Given the description of an element on the screen output the (x, y) to click on. 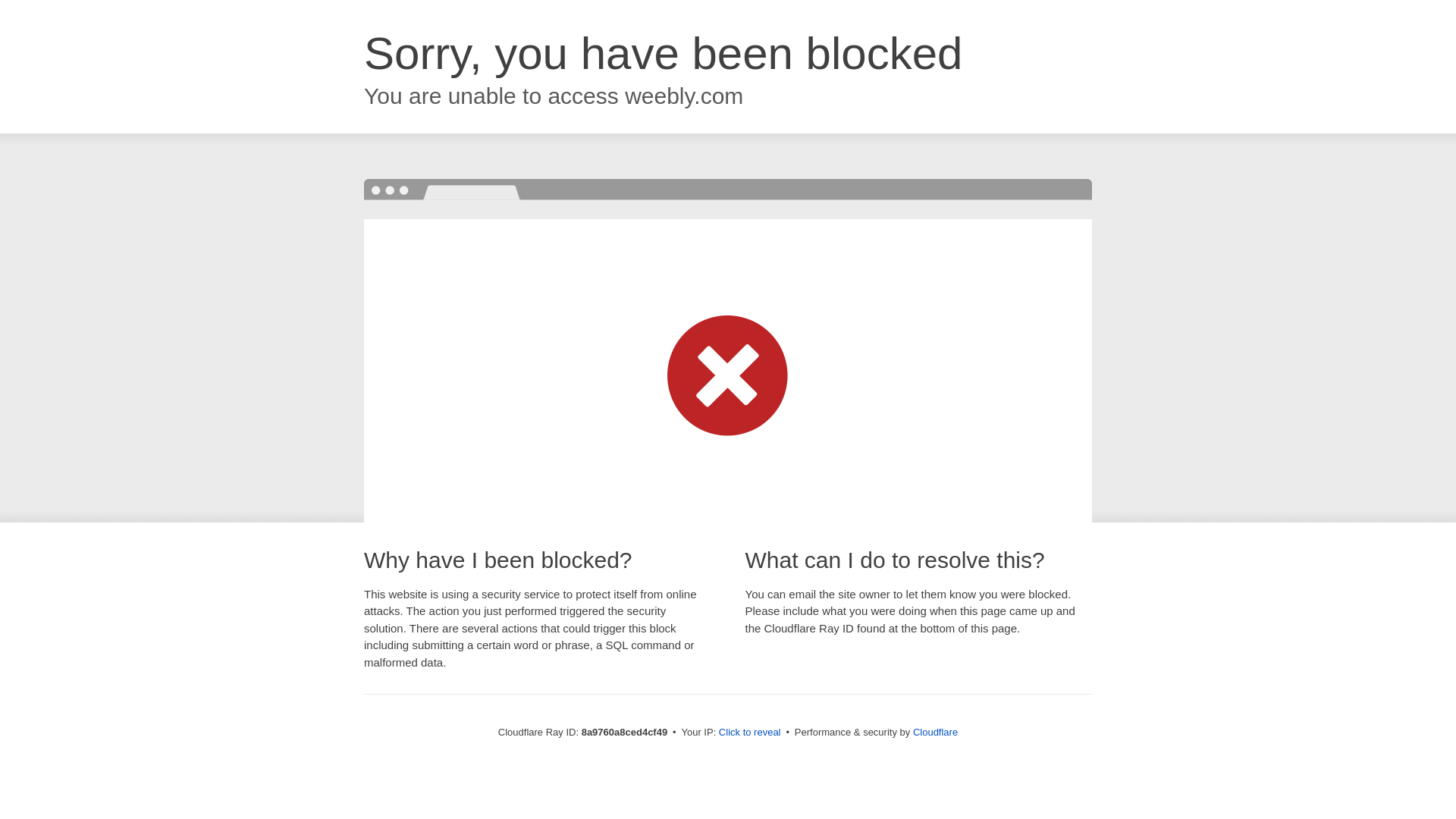
Click to reveal (749, 732)
Cloudflare (935, 731)
